Given the description of an element on the screen output the (x, y) to click on. 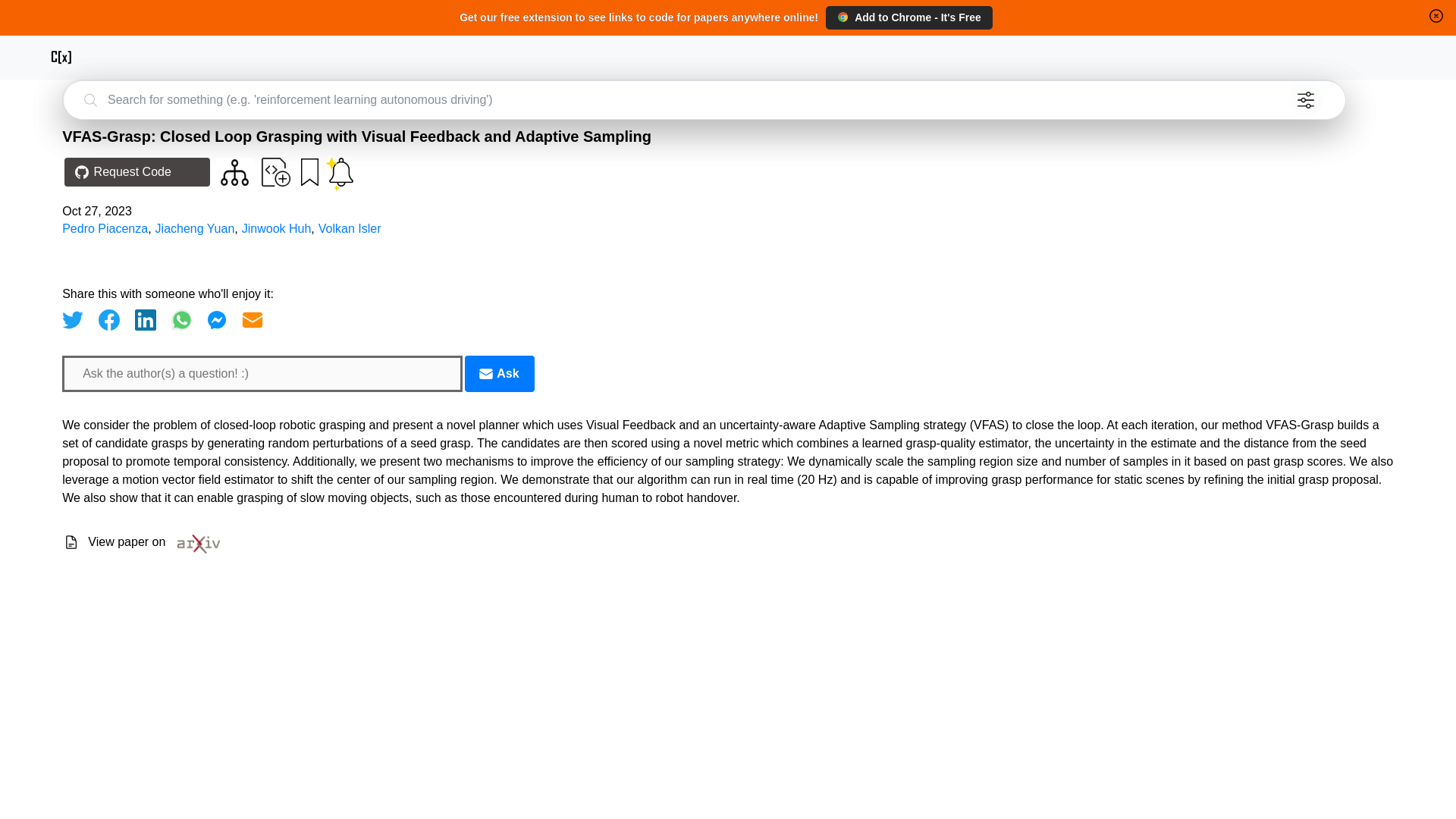
Request Code (132, 173)
Contribute your code for this paper to the community (275, 172)
View code for similar papers (234, 171)
Volkan Isler (349, 228)
Ask any Qs from the author (499, 373)
Jiacheng Yuan (194, 228)
Share via Email (252, 319)
Request Code (136, 172)
Email Icon Ask (499, 373)
Add to Chrome - It's Free (908, 17)
